Given the description of an element on the screen output the (x, y) to click on. 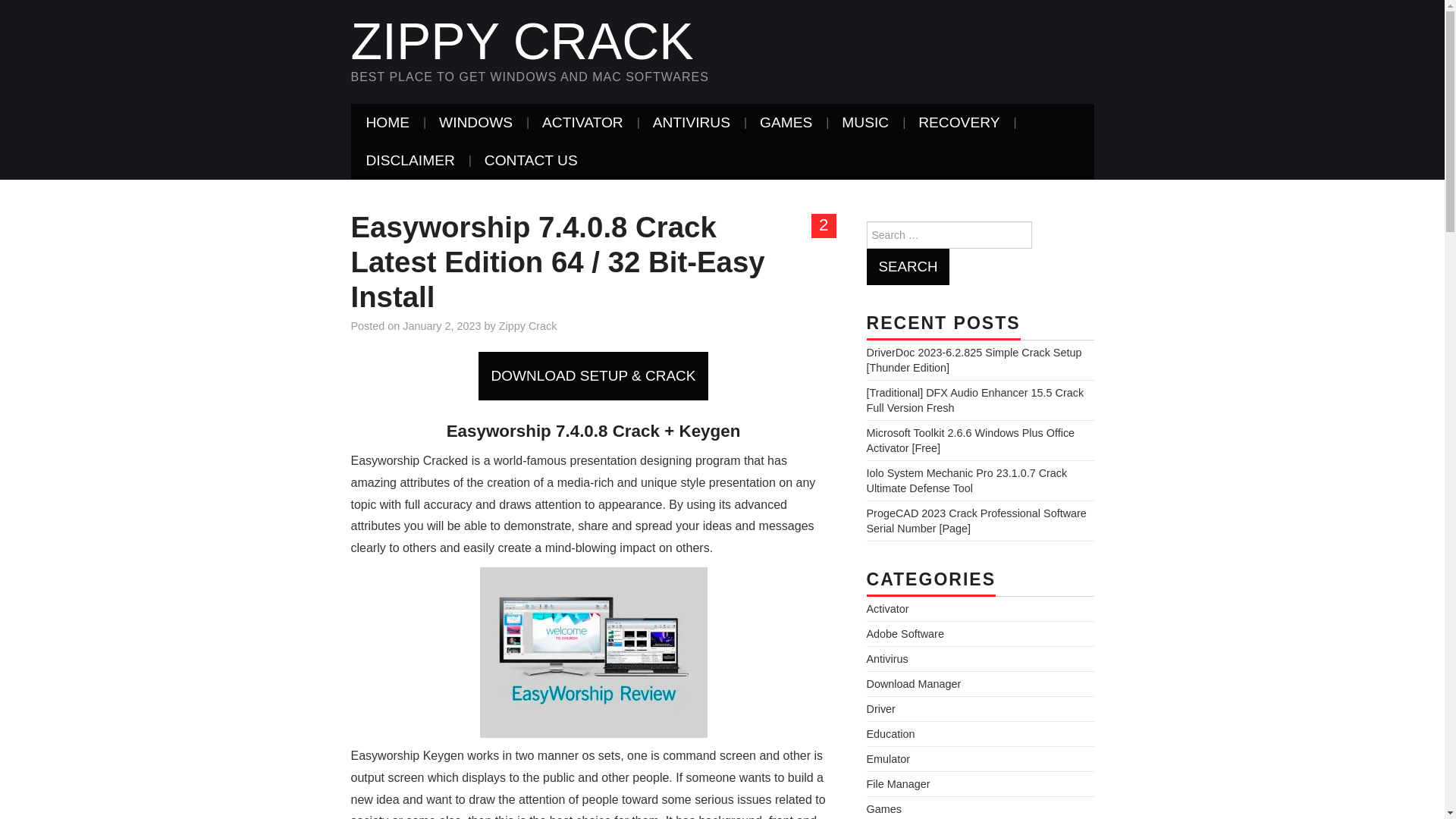
Zippy Crack (521, 40)
ANTIVIRUS (691, 122)
Search (907, 266)
2:33 pm (441, 326)
ACTIVATOR (583, 122)
MUSIC (865, 122)
GAMES (785, 122)
DISCLAIMER (409, 160)
January 2, 2023 (441, 326)
Activator (887, 608)
Adobe Software (904, 633)
RECOVERY (958, 122)
WINDOWS (475, 122)
Antivirus (886, 658)
